Given the description of an element on the screen output the (x, y) to click on. 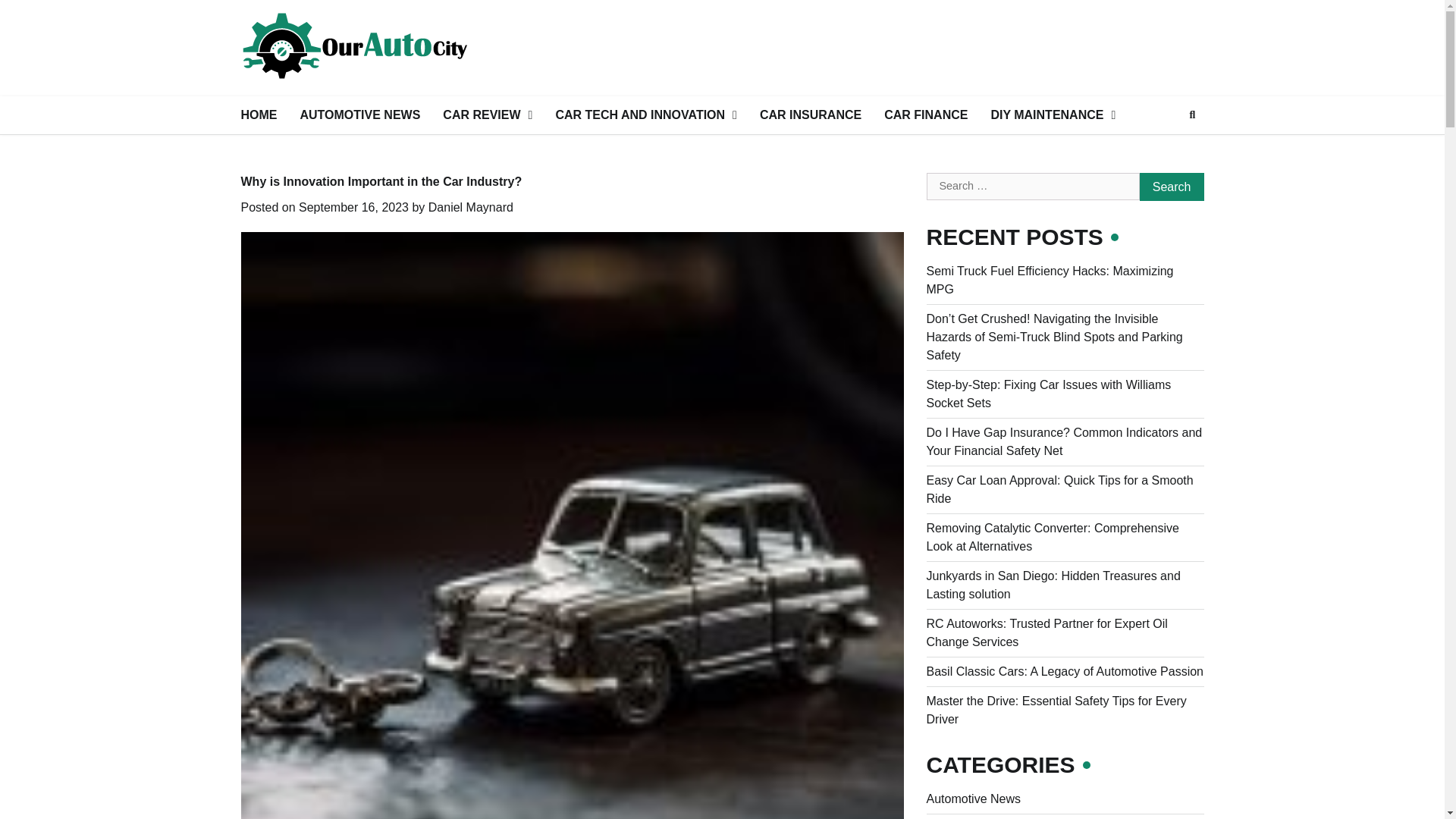
CAR INSURANCE (810, 114)
Search (1172, 186)
Search (1172, 186)
CAR REVIEW (486, 114)
AUTOMOTIVE NEWS (359, 114)
CAR TECH AND INNOVATION (645, 114)
September 16, 2023 (353, 206)
HOME (258, 114)
Search (1164, 150)
DIY MAINTENANCE (1052, 114)
